Given the description of an element on the screen output the (x, y) to click on. 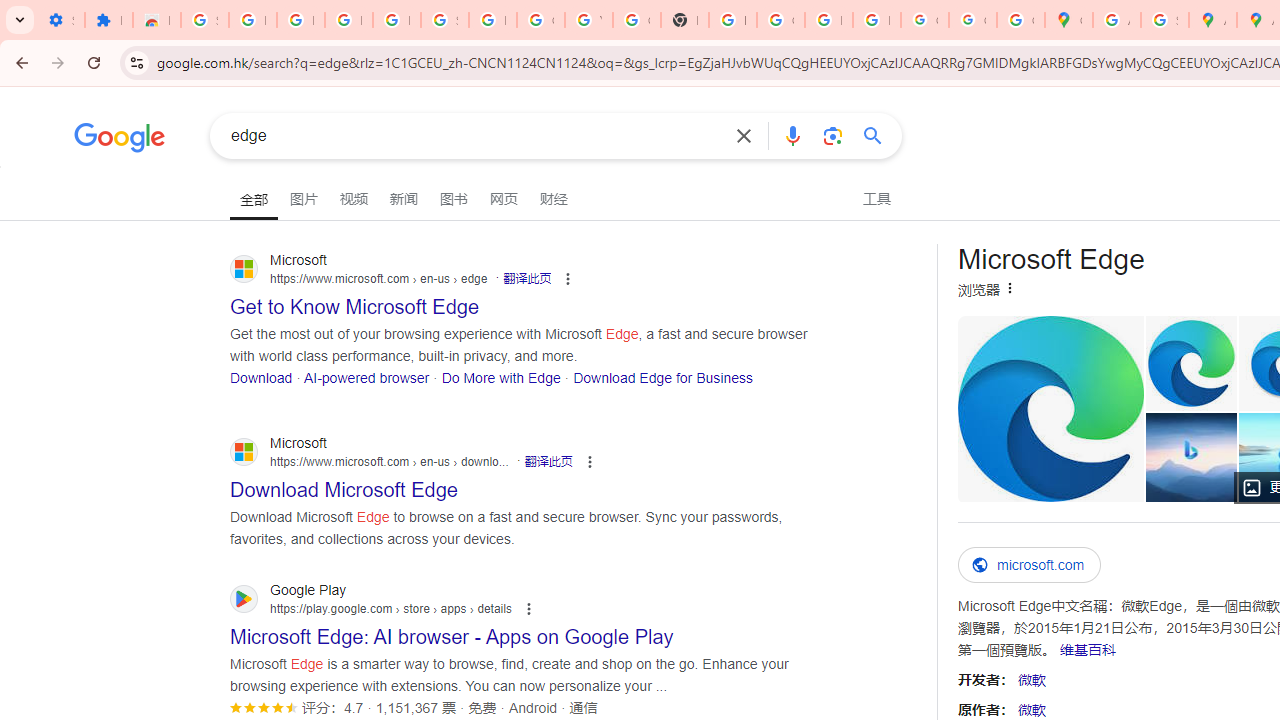
https://scholar.google.com/ (732, 20)
Google Account (540, 20)
Delete photos & videos - Computer - Google Photos Help (300, 20)
New Tab (684, 20)
microsoft.com (1029, 565)
Sign in - Google Accounts (204, 20)
